Given the description of an element on the screen output the (x, y) to click on. 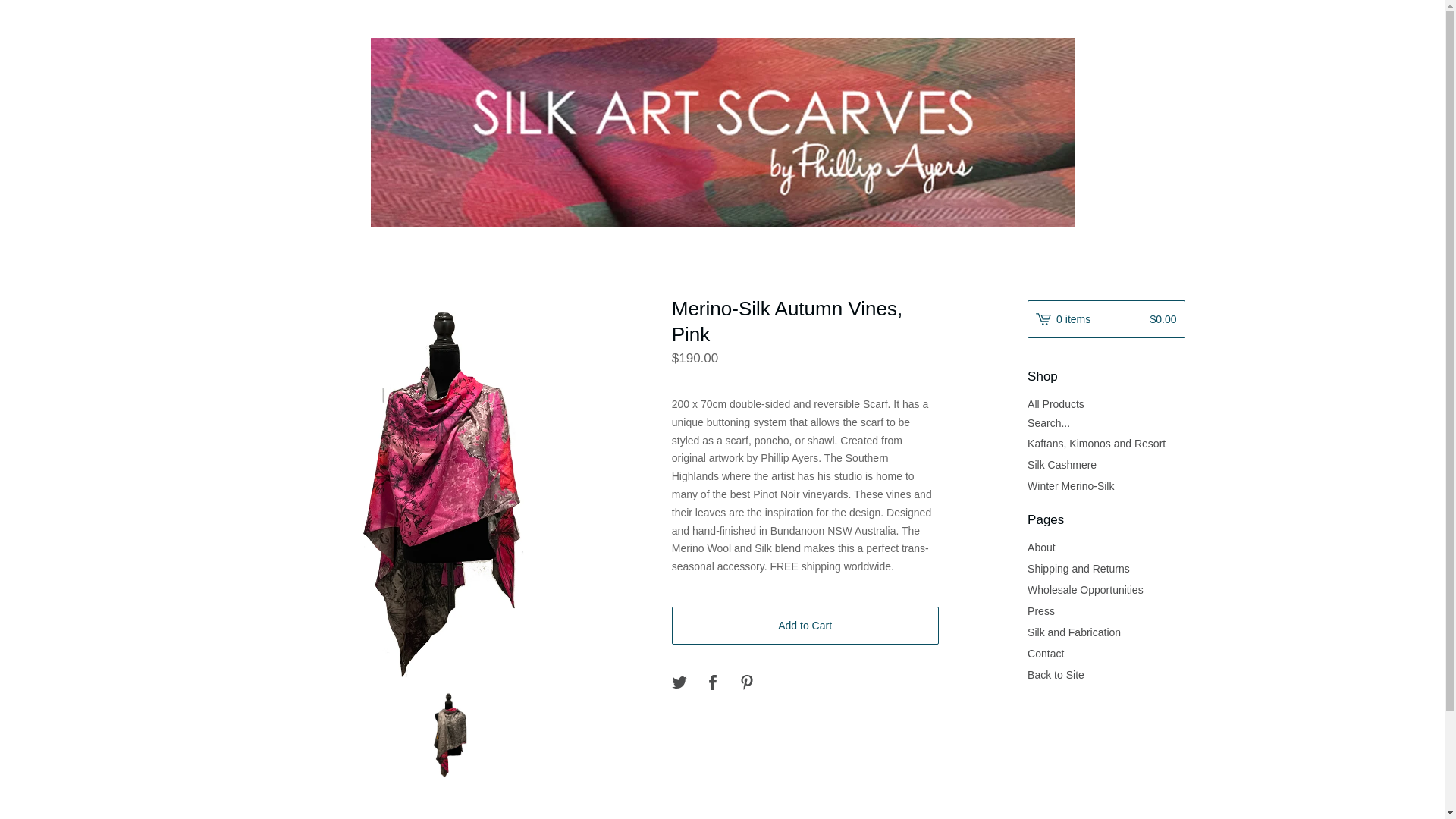
All Products (1106, 403)
View Silk and Fabrication (1106, 631)
Silk and Fabrication (1106, 631)
View Shipping and Returns (1106, 568)
Press (1106, 610)
Add to Cart (805, 625)
View Winter Merino-Silk (1106, 485)
Contact (1106, 653)
View Press (1106, 610)
Silk Cashmere (1106, 464)
Silk Art Scarves (721, 132)
Kaftans, Kimonos and Resort (1106, 443)
Contact (1106, 653)
Back to Site (1106, 674)
Shipping and Returns (1106, 568)
